Given the description of an element on the screen output the (x, y) to click on. 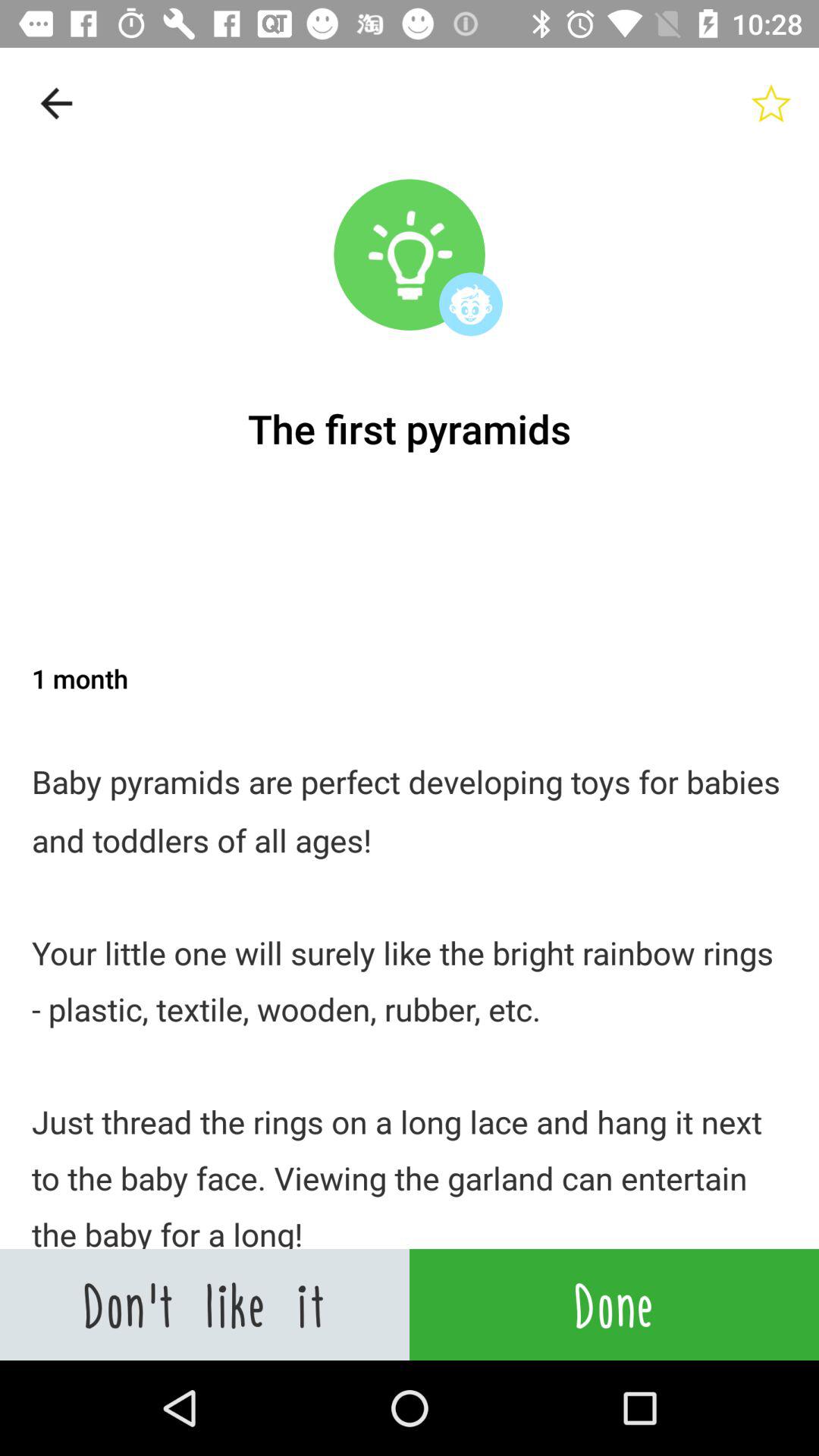
rate the article (771, 103)
